Given the description of an element on the screen output the (x, y) to click on. 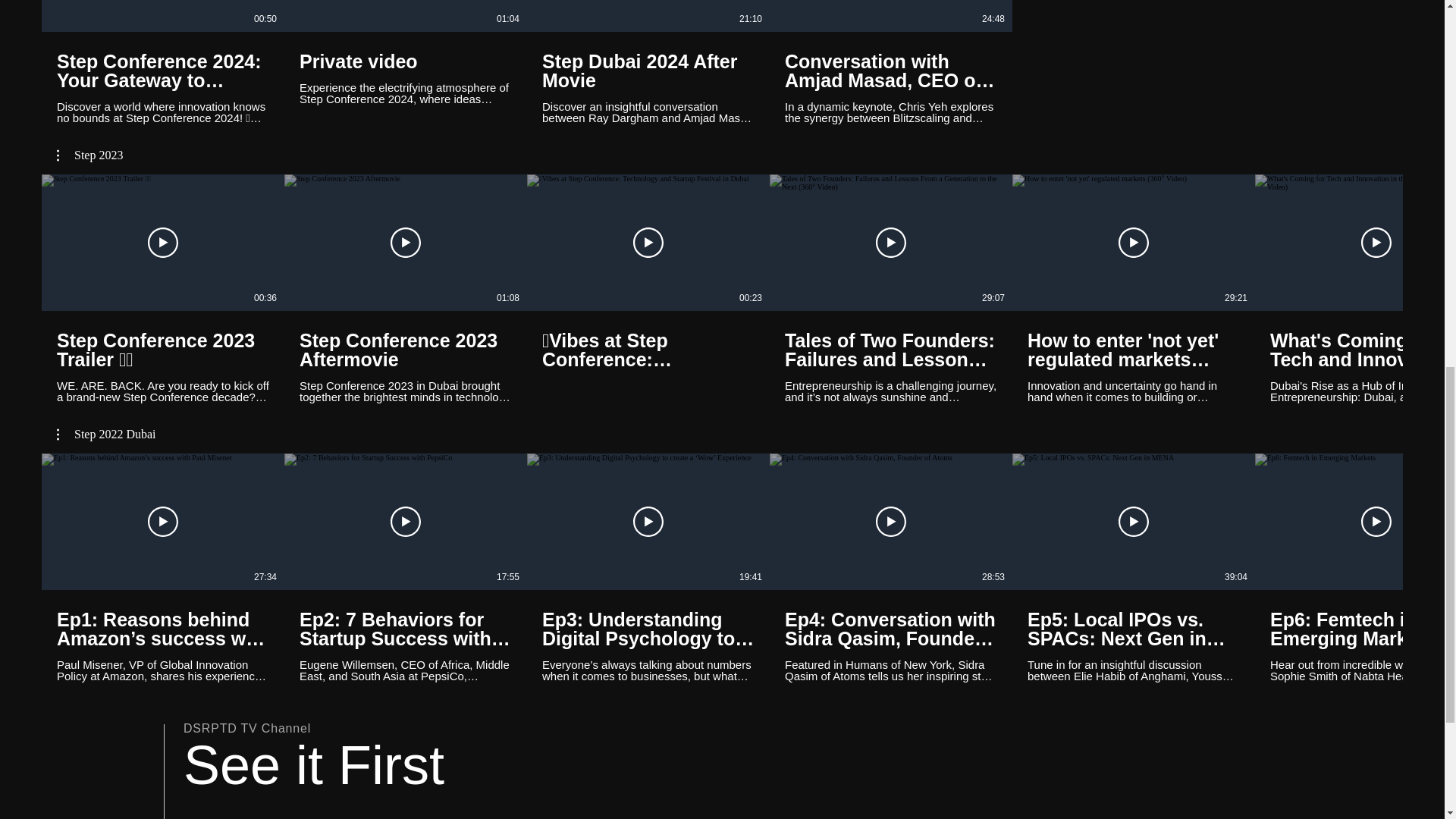
Step Conference 2023 Aftermovie (405, 350)
Step Dubai 2024 After Movie (647, 70)
Ep2: 7 Behaviors for Startup Success with PepsiCo (405, 629)
Ep5: Local IPOs vs. SPACs: Next Gen in MENA (1133, 629)
Private video (405, 60)
Ep4: Conversation with Sidra Qasim, Founder of Atoms (890, 629)
